Given the description of an element on the screen output the (x, y) to click on. 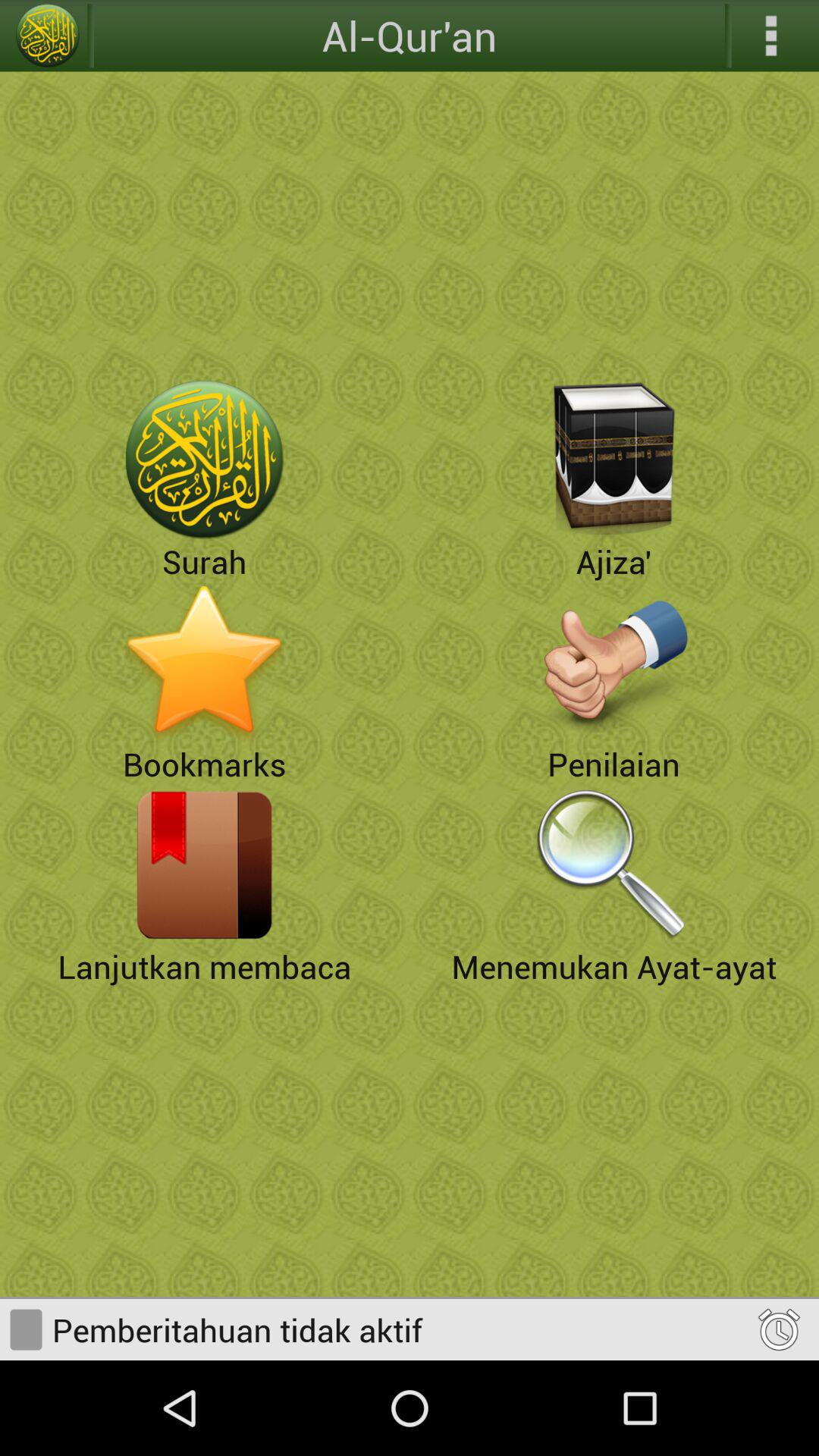
open bookmarks (204, 662)
